Given the description of an element on the screen output the (x, y) to click on. 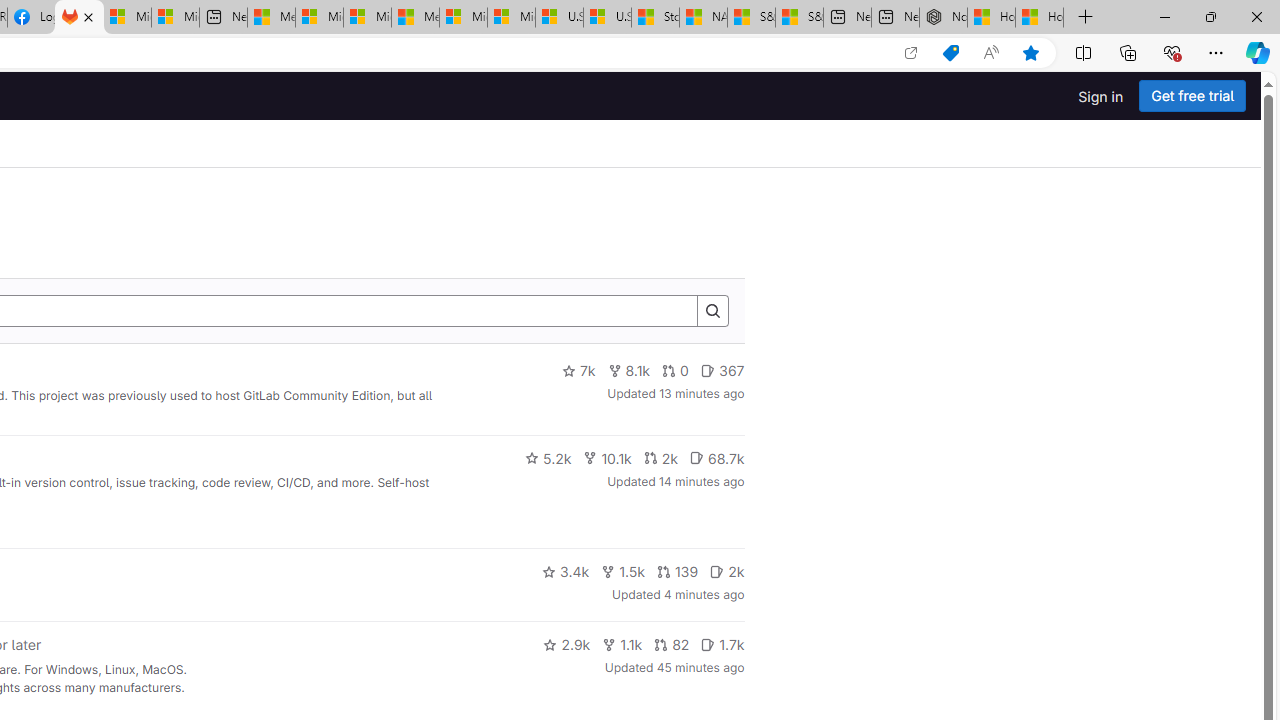
7k (578, 371)
Microsoft account | Home (367, 17)
